Given the description of an element on the screen output the (x, y) to click on. 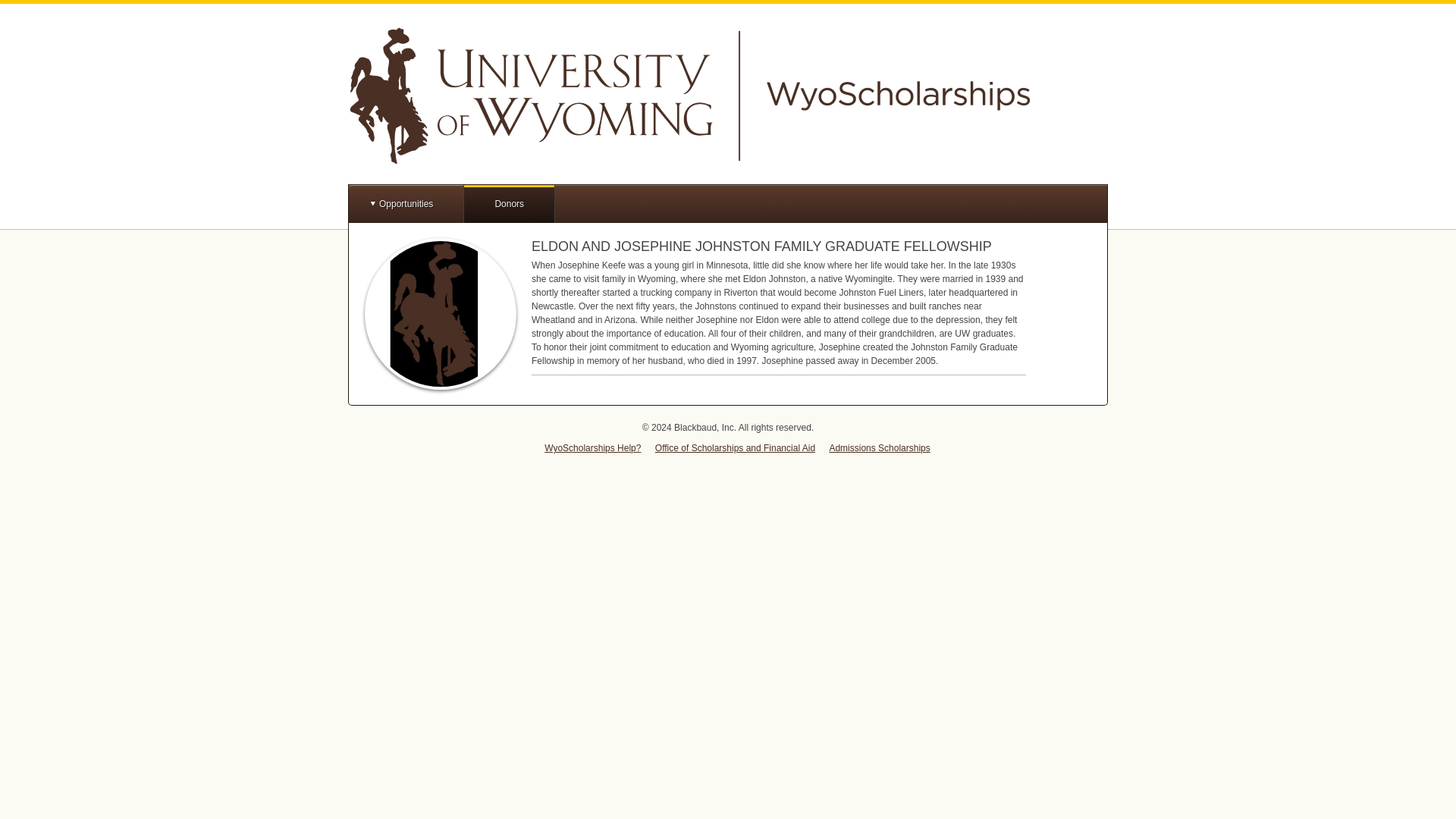
WyoScholarships Help? (592, 448)
Opportunities (406, 203)
Admissions Scholarships (879, 448)
Donors (509, 203)
WyoScholarships (688, 95)
Office of Scholarships and Financial Aid (735, 448)
